Given the description of an element on the screen output the (x, y) to click on. 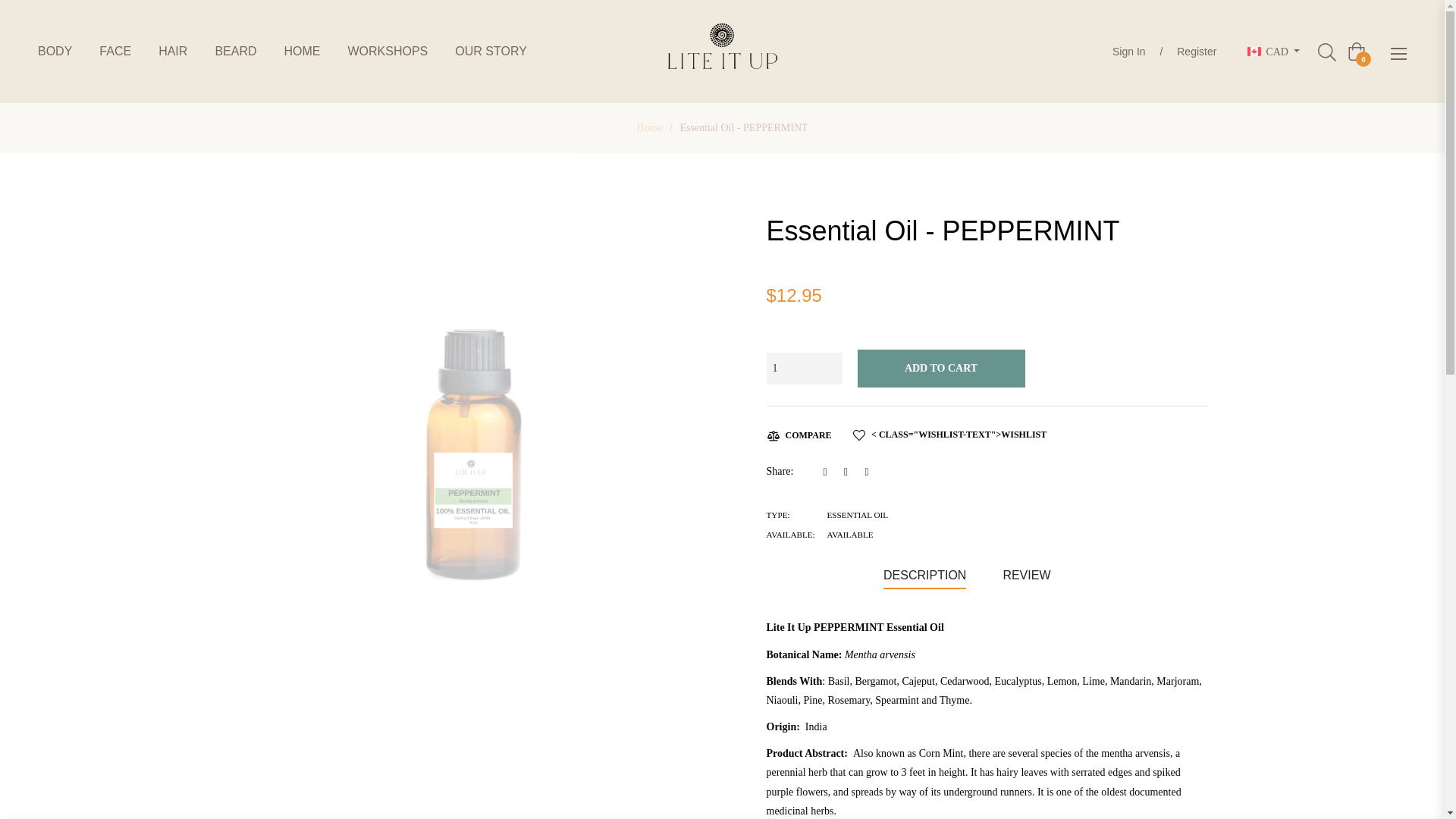
Currencies (1273, 51)
Shopping Cart (1356, 51)
Register (1196, 51)
Compare (798, 435)
Sign In (1128, 51)
Tweet on Twitter (850, 471)
Pin on Pinterest (869, 471)
Share on Facebook (830, 471)
WORKSHOPS (387, 51)
Home (648, 127)
